Given the description of an element on the screen output the (x, y) to click on. 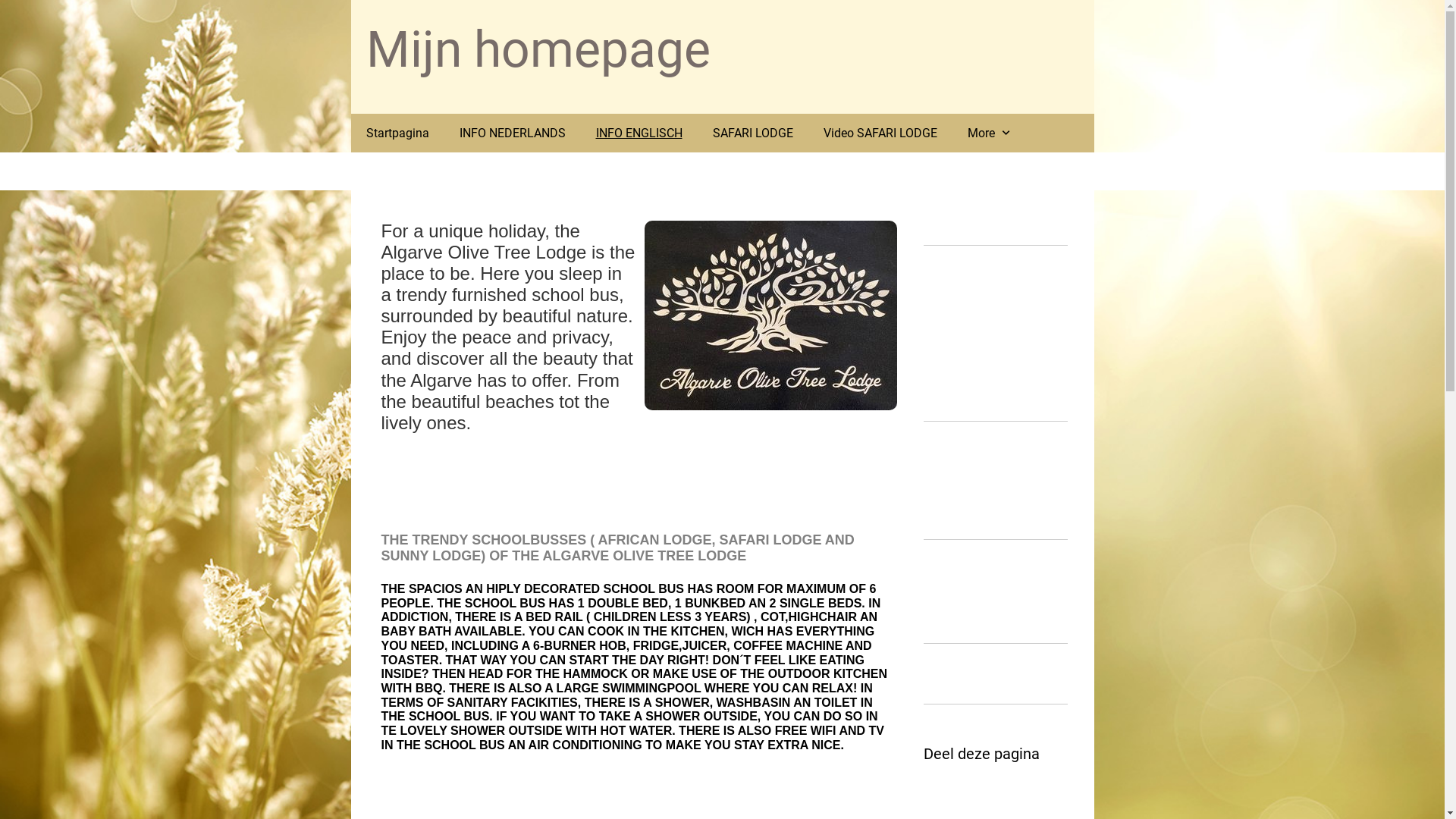
Mijn homepage Element type: text (537, 49)
Startpagina Element type: text (396, 132)
INFO NEDERLANDS Element type: text (512, 132)
SAFARI LODGE Element type: text (752, 132)
INFO ENGLISCH Element type: text (638, 132)
More Element type: text (990, 132)
Video SAFARI LODGE Element type: text (880, 132)
